Given the description of an element on the screen output the (x, y) to click on. 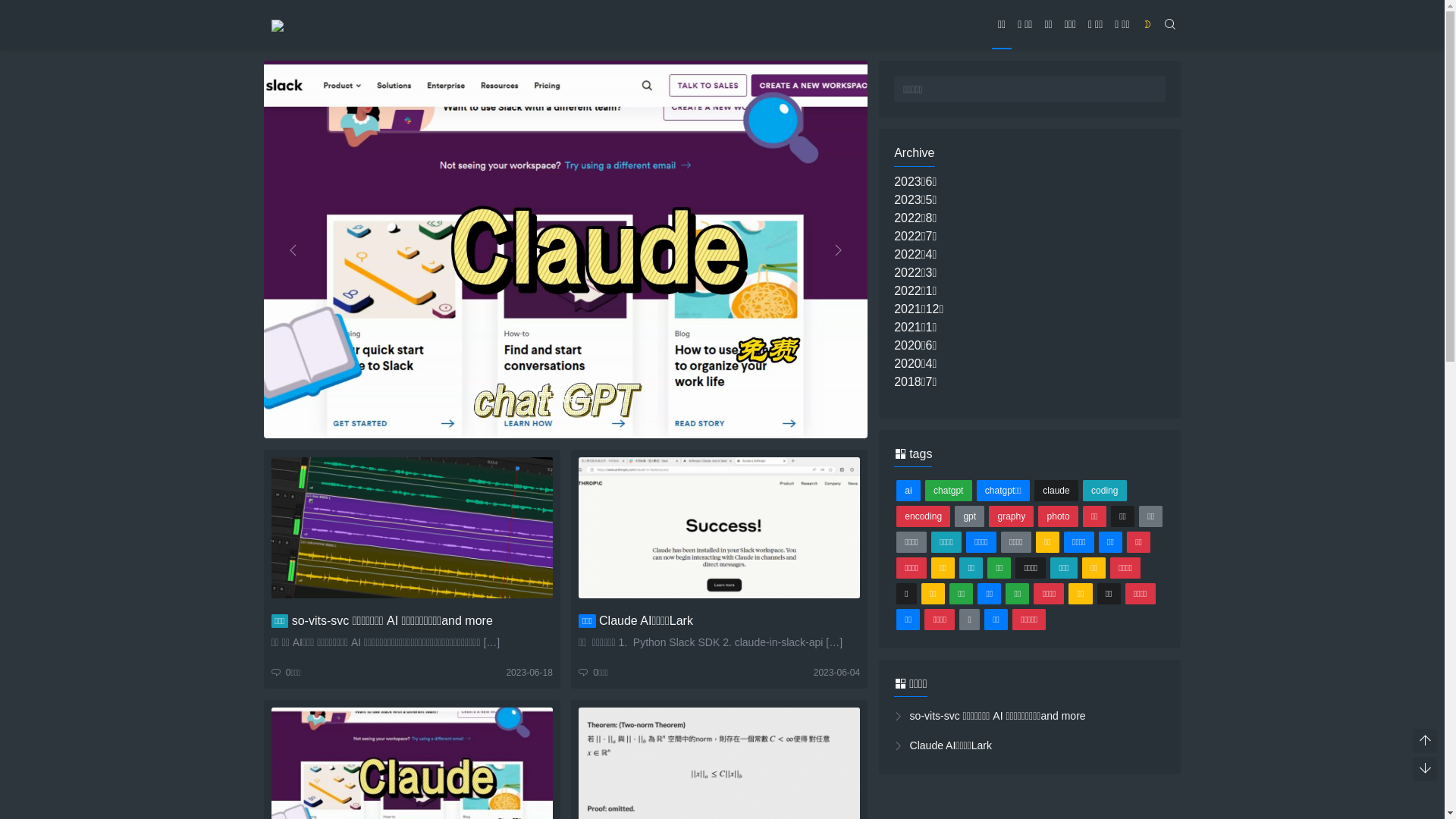
photo Element type: text (1057, 516)
gpt Element type: text (969, 516)
chatgpt Element type: text (948, 490)
claude Element type: text (1056, 490)
encoding Element type: text (923, 516)
ai Element type: text (908, 490)
graphy Element type: text (1010, 516)
coding Element type: text (1104, 490)
